Given the description of an element on the screen output the (x, y) to click on. 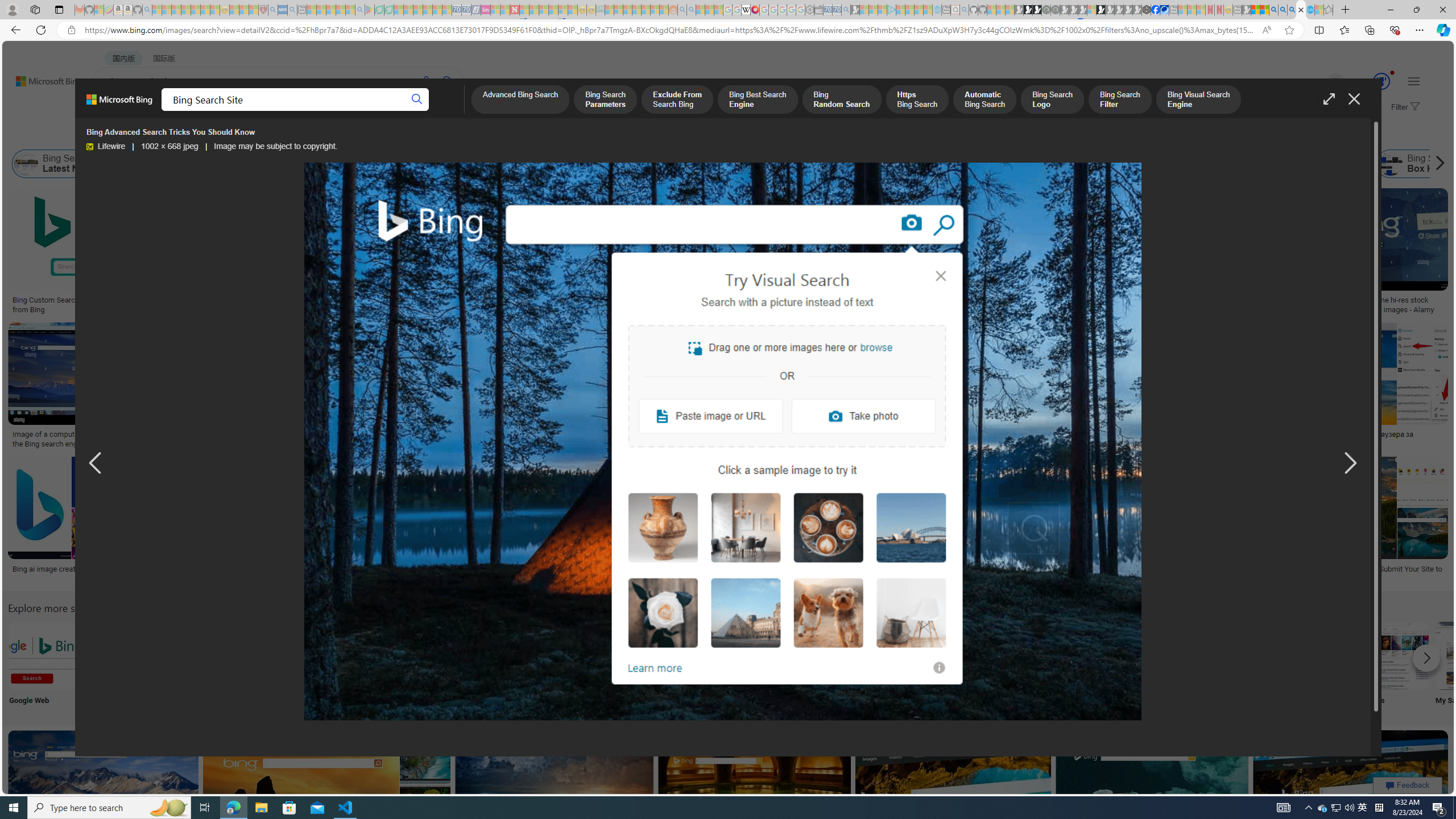
MY BING (156, 111)
Bing - SEOLend (219, 299)
New Bing Image Search New (1169, 665)
Bar Install (944, 665)
Microsoft Bing, Back to Bing search (118, 104)
20 Reasons to Search With Bing | PCMag (621, 299)
Bing T-Shirts (802, 227)
